Given the description of an element on the screen output the (x, y) to click on. 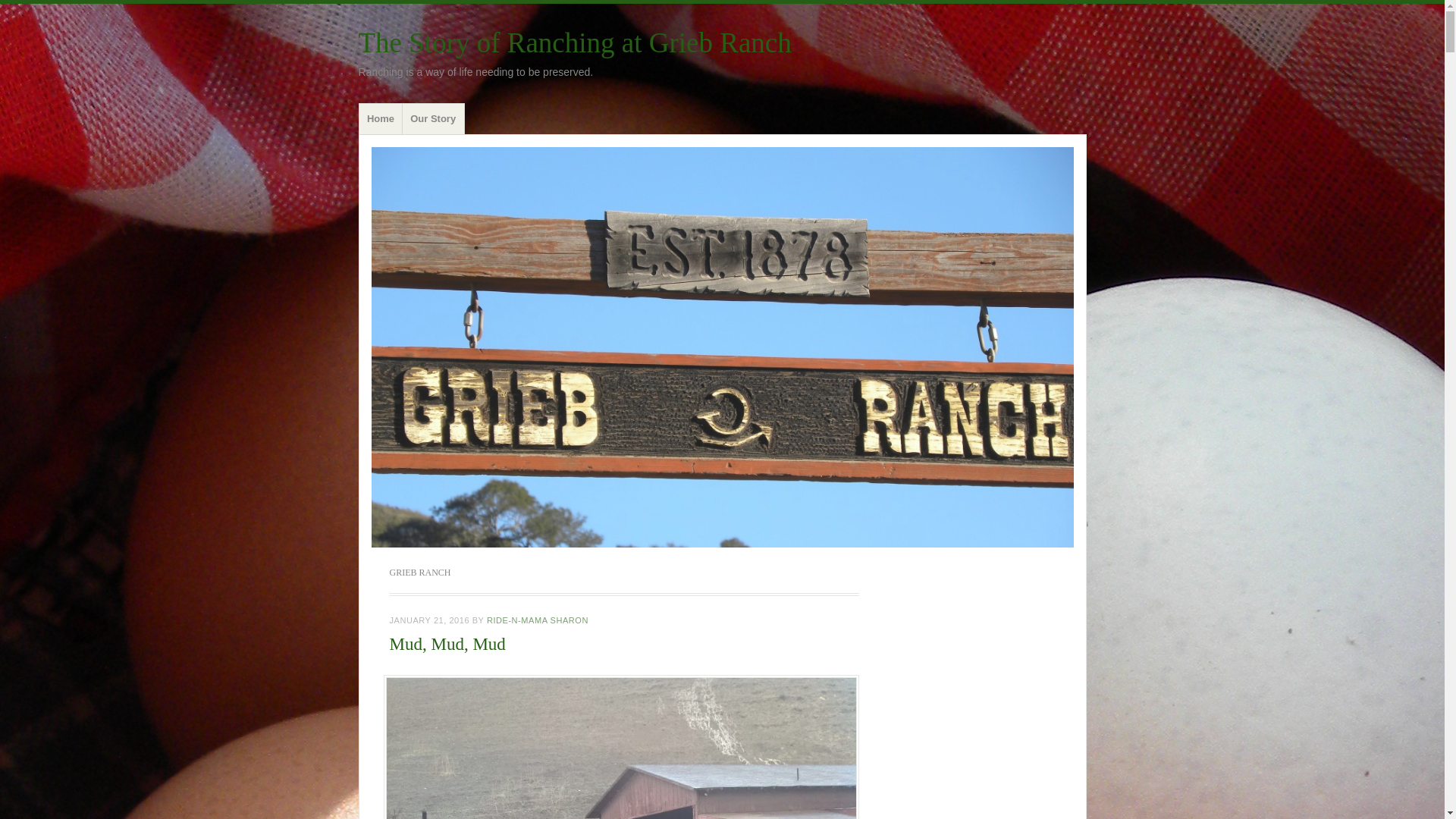
Our Story (432, 119)
Home (380, 119)
The Story of Ranching at Grieb Ranch (574, 42)
The Story of Ranching at Grieb Ranch (574, 42)
Mud, Mud, Mud (447, 643)
JANUARY 21, 2016 (430, 619)
View all posts by ride-n-mama Sharon (537, 619)
RIDE-N-MAMA SHARON (537, 619)
9:54 am (430, 619)
